Given the description of an element on the screen output the (x, y) to click on. 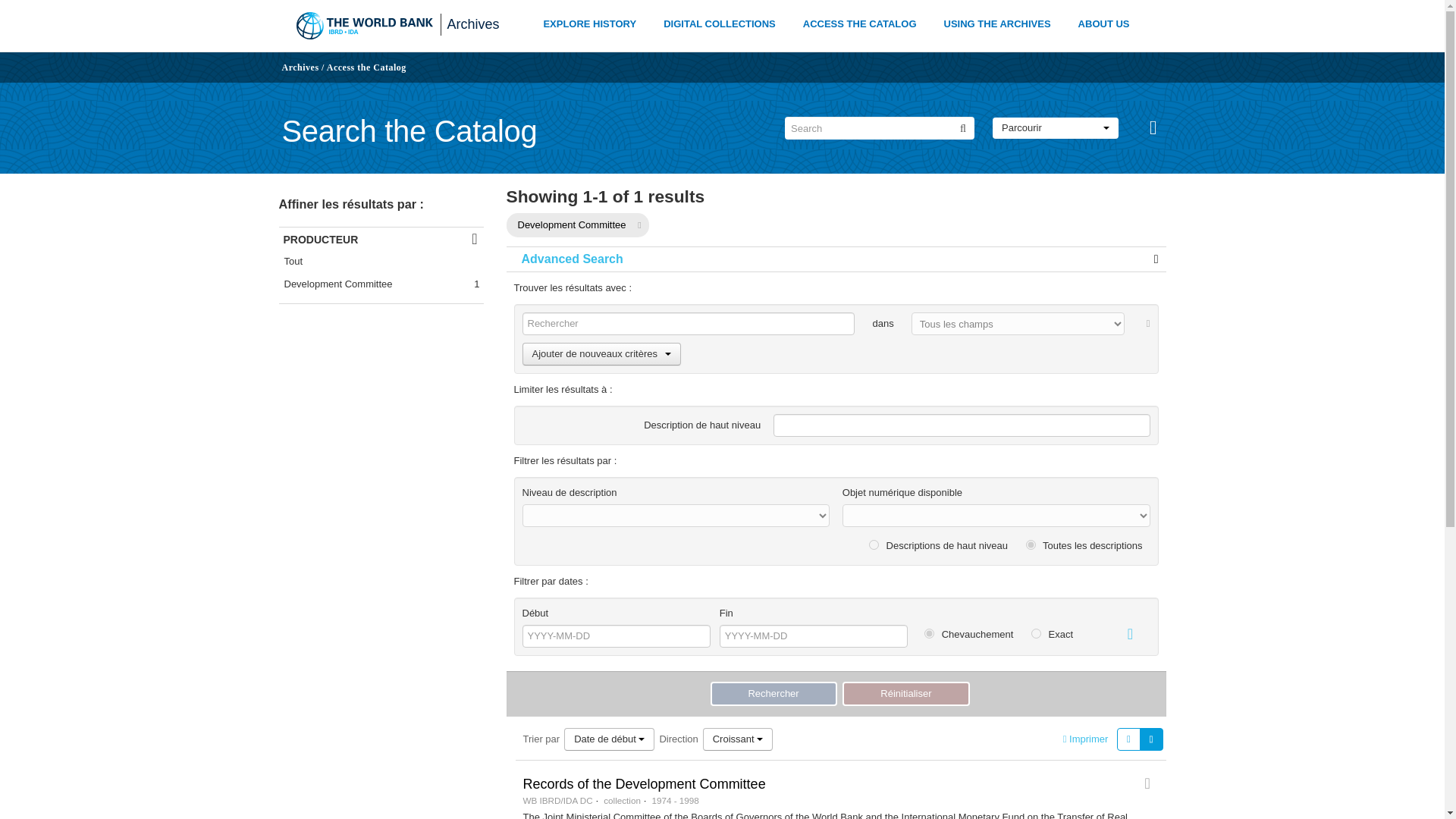
Rechercher (772, 693)
Records of the Development Committee (643, 783)
Imprimer (1085, 738)
0 (1030, 544)
1 (874, 544)
Access the Catalog (366, 67)
inclusive (929, 633)
Tout (381, 261)
The World Bank Working for a World Free of Poverty (364, 25)
ABOUT US (1104, 24)
Tout (381, 261)
producteur (381, 238)
Archives (300, 67)
